Given the description of an element on the screen output the (x, y) to click on. 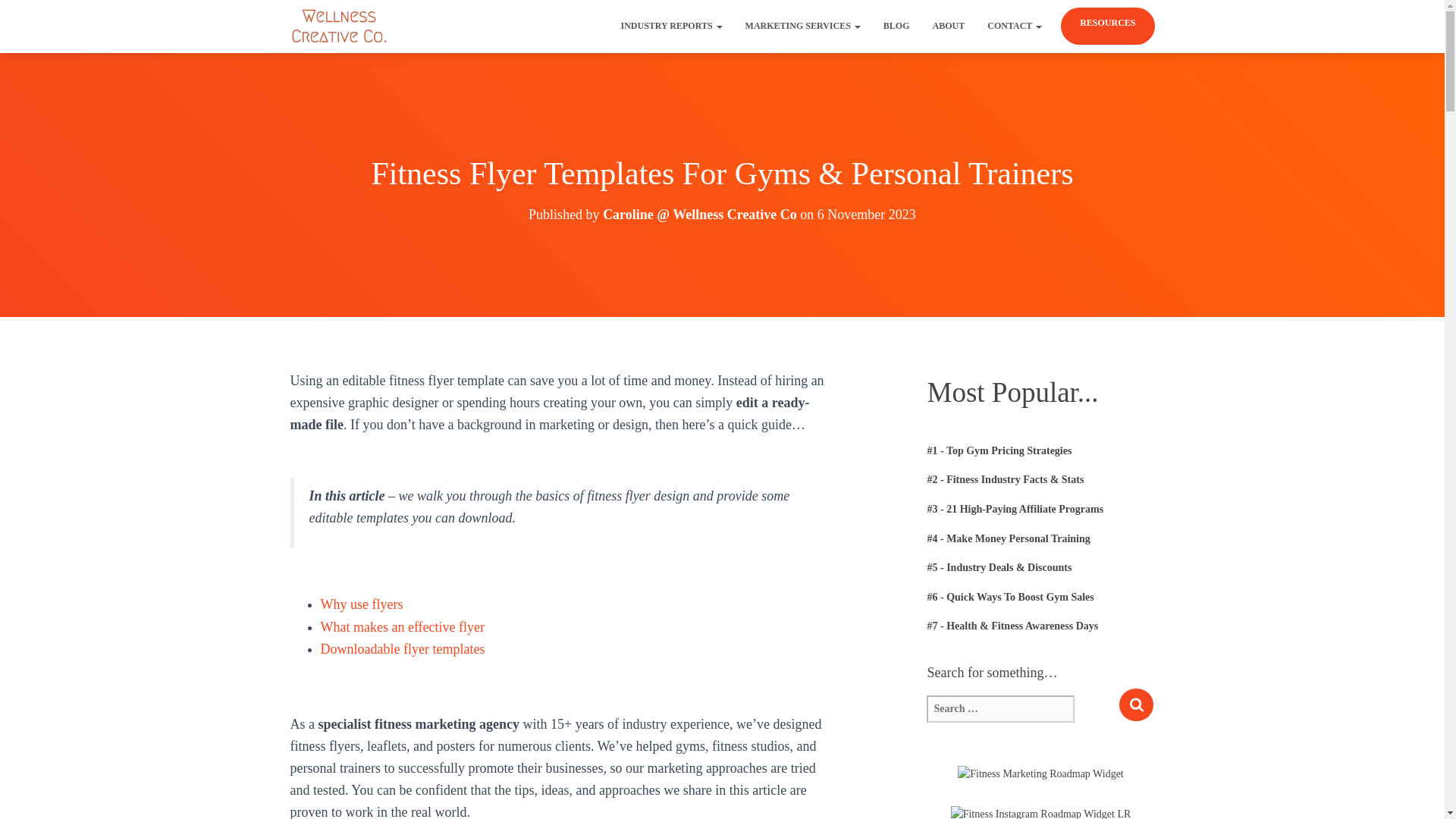
BLOG (896, 26)
Industry Reports (671, 26)
Wellness Creative Co (339, 26)
About (948, 26)
Contact (1013, 26)
CONTACT (1013, 26)
Search (1136, 704)
Resources (1107, 22)
Search (1136, 704)
Why use flyers (361, 604)
ABOUT (948, 26)
RESOURCES (1107, 22)
Blog (896, 26)
Marketing Services (802, 26)
MARKETING SERVICES (802, 26)
